Given the description of an element on the screen output the (x, y) to click on. 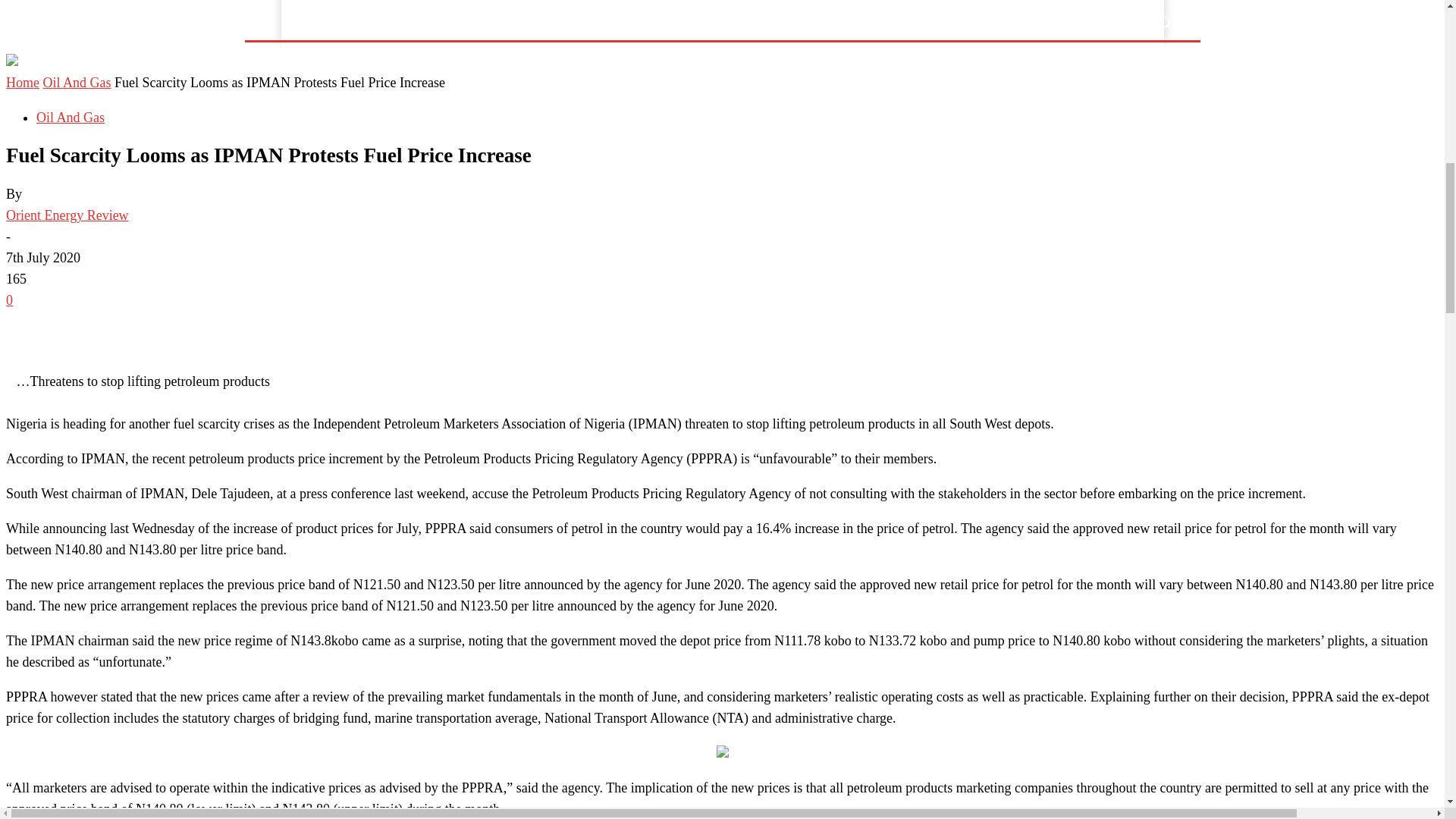
Home (307, 21)
News (352, 21)
